Given the description of an element on the screen output the (x, y) to click on. 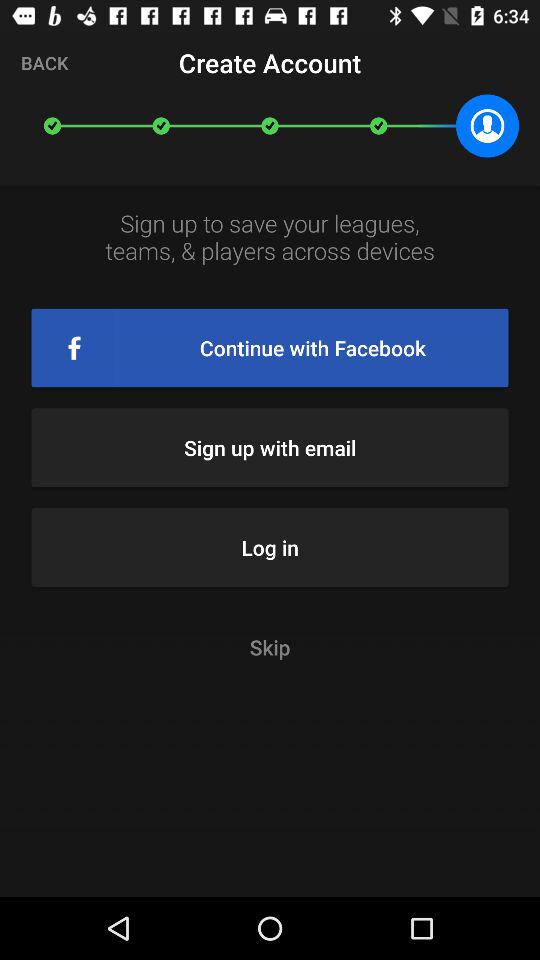
turn off the icon to the left of the create account item (44, 62)
